Given the description of an element on the screen output the (x, y) to click on. 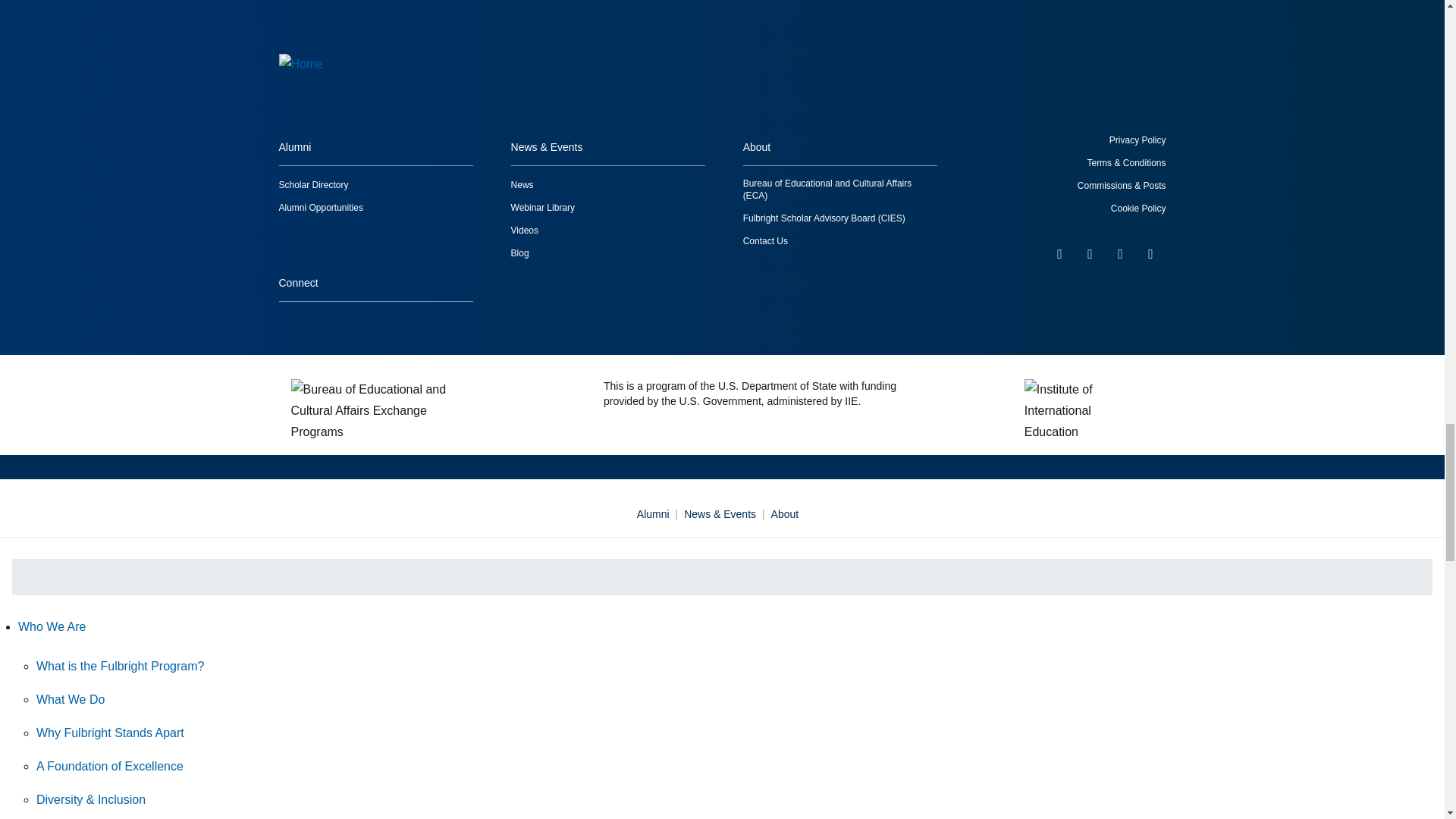
Home (392, 76)
Enter the terms you wish to search for. (721, 576)
Search (1414, 576)
Fulbright Scholar Program contact information (764, 241)
